Given the description of an element on the screen output the (x, y) to click on. 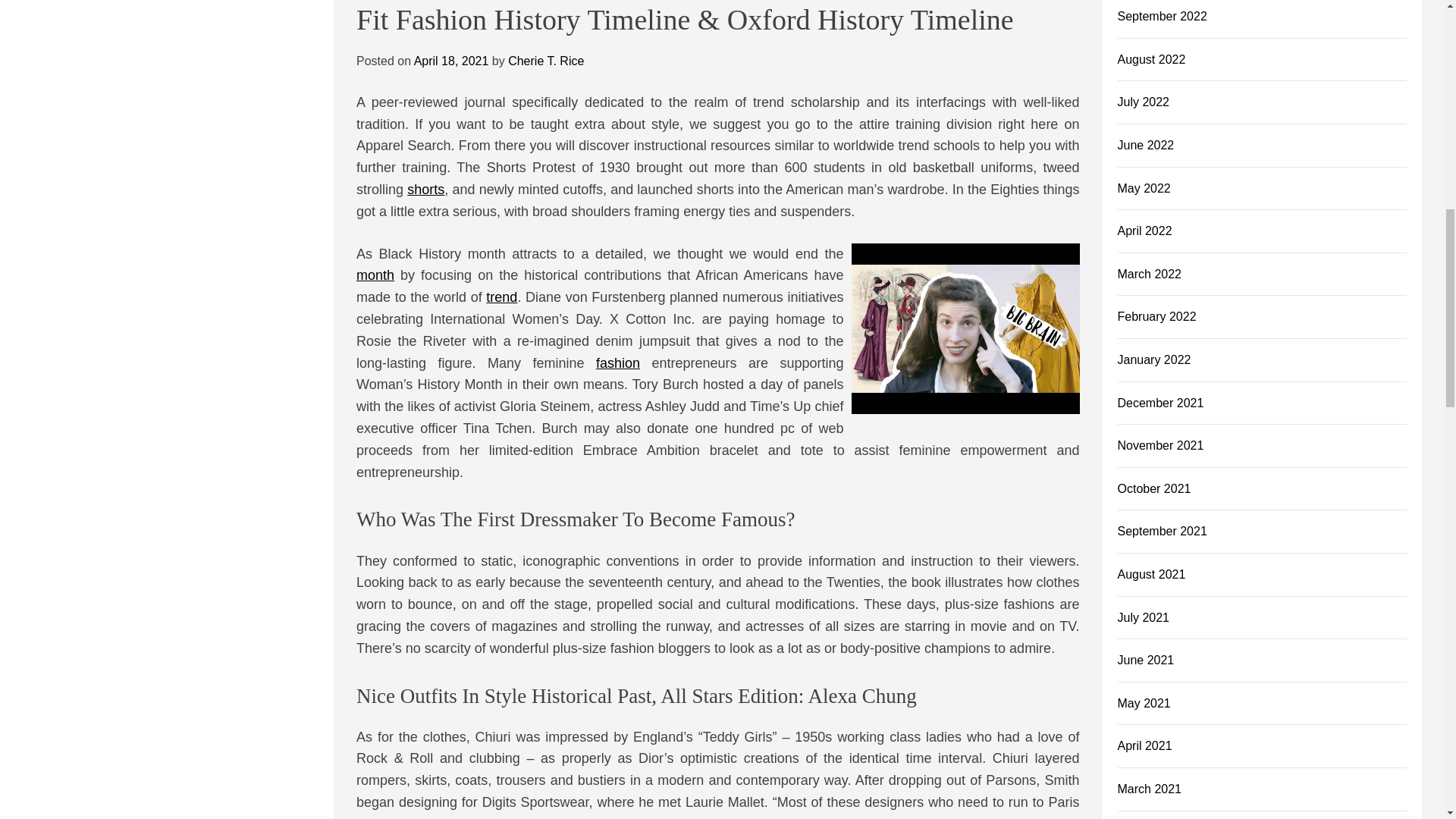
Cherie T. Rice (769, 597)
